Given the description of an element on the screen output the (x, y) to click on. 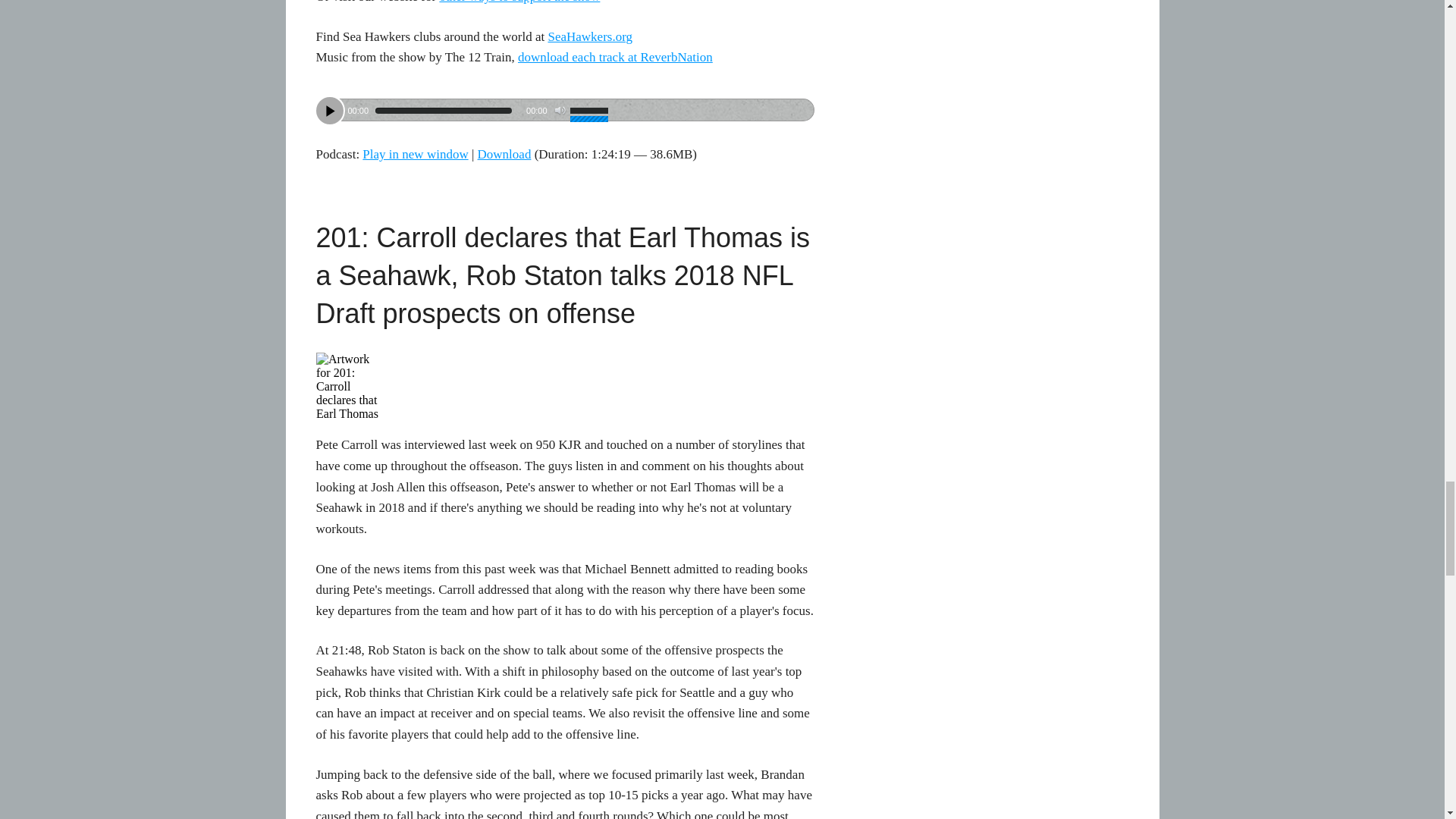
Download (504, 154)
Mute (560, 110)
Play in new window (414, 154)
Play (328, 110)
